Given the description of an element on the screen output the (x, y) to click on. 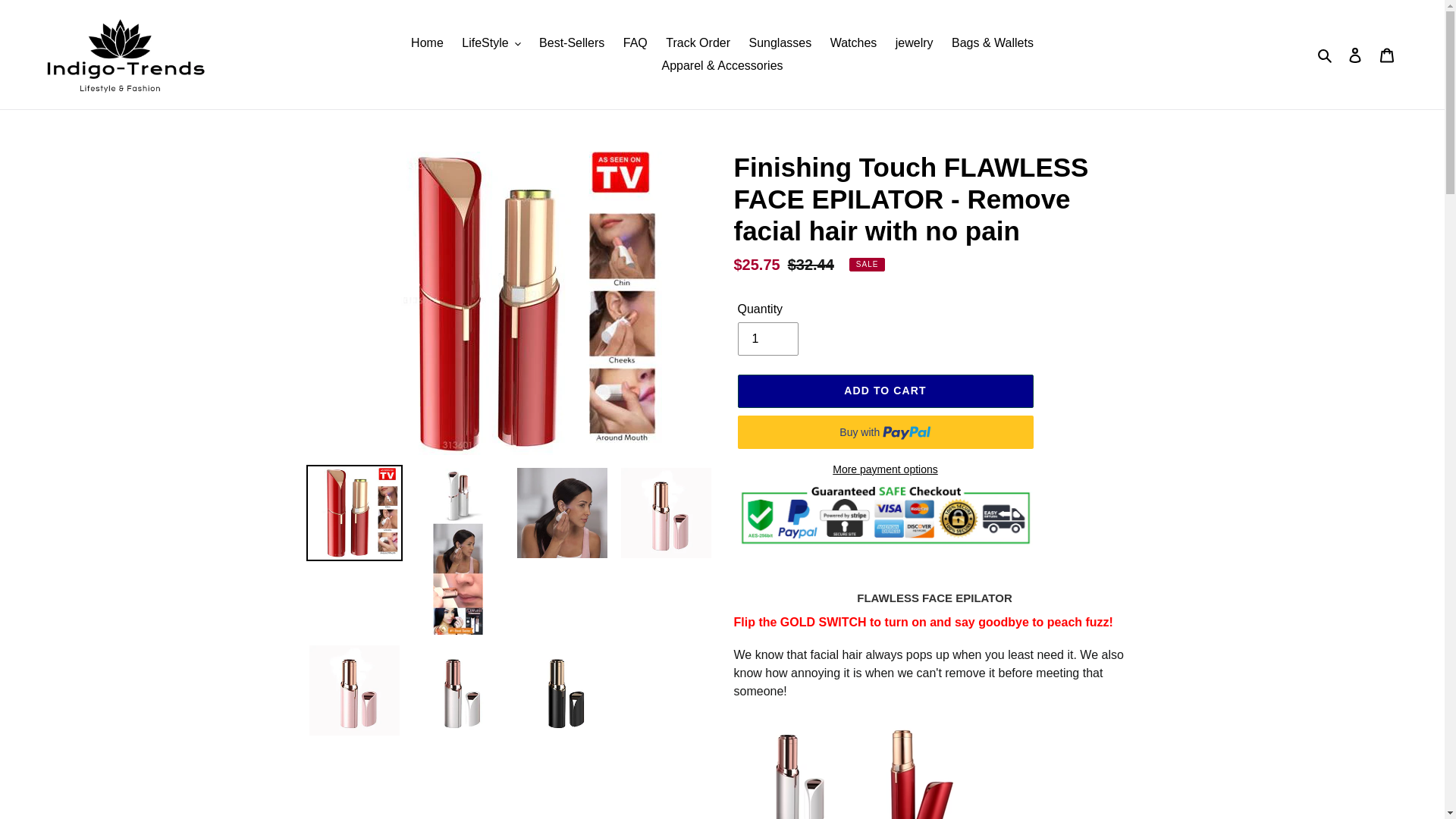
Watches (853, 42)
FAQ (635, 42)
1 (766, 338)
Home (427, 42)
Log in (1355, 54)
Sunglasses (779, 42)
jewelry (914, 42)
LifeStyle (490, 42)
Cart (1387, 54)
Track Order (698, 42)
Best-Sellers (571, 42)
Search (1326, 54)
